Given the description of an element on the screen output the (x, y) to click on. 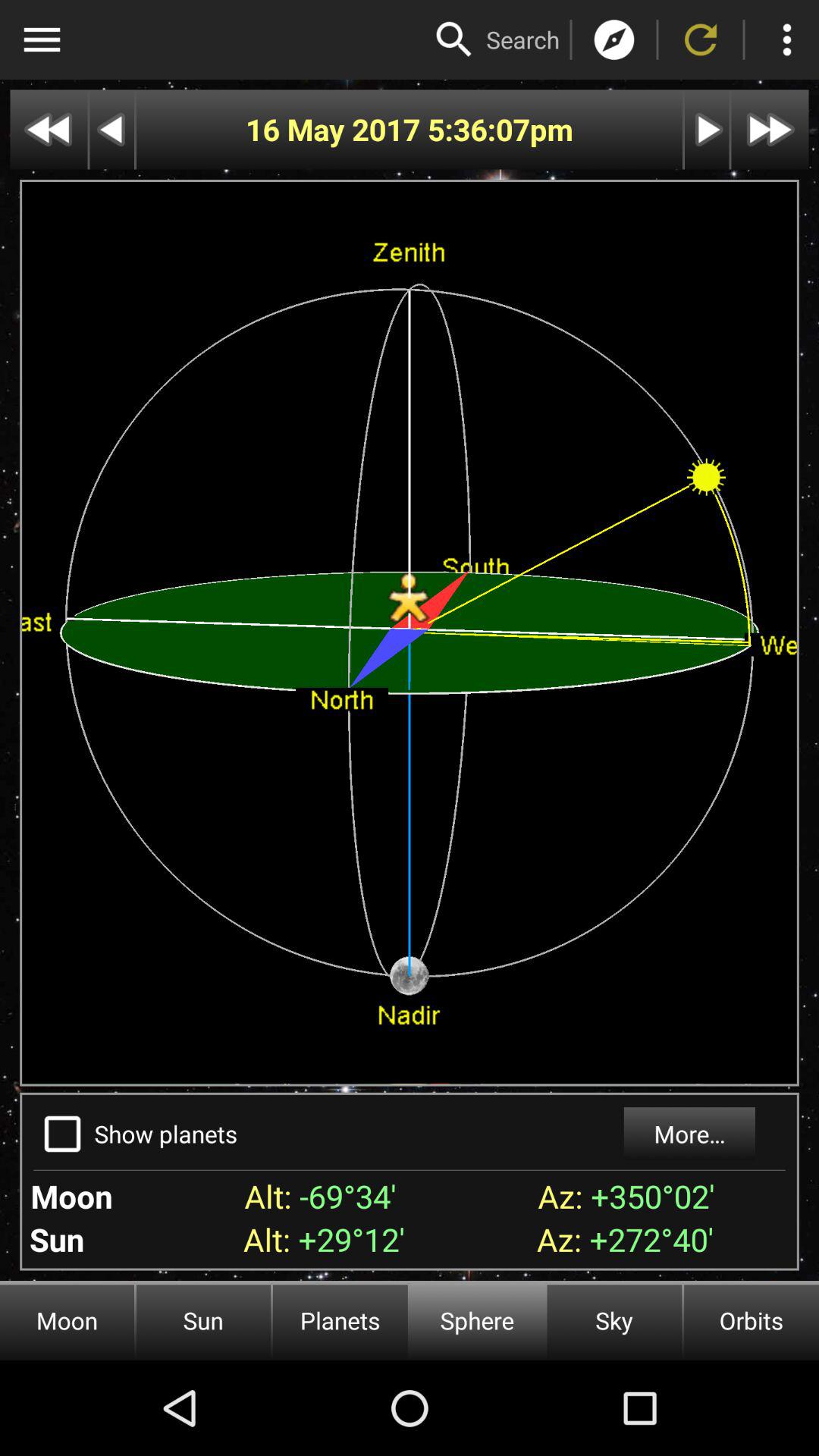
turn on app next to the 16 may 2017  item (478, 129)
